Given the description of an element on the screen output the (x, y) to click on. 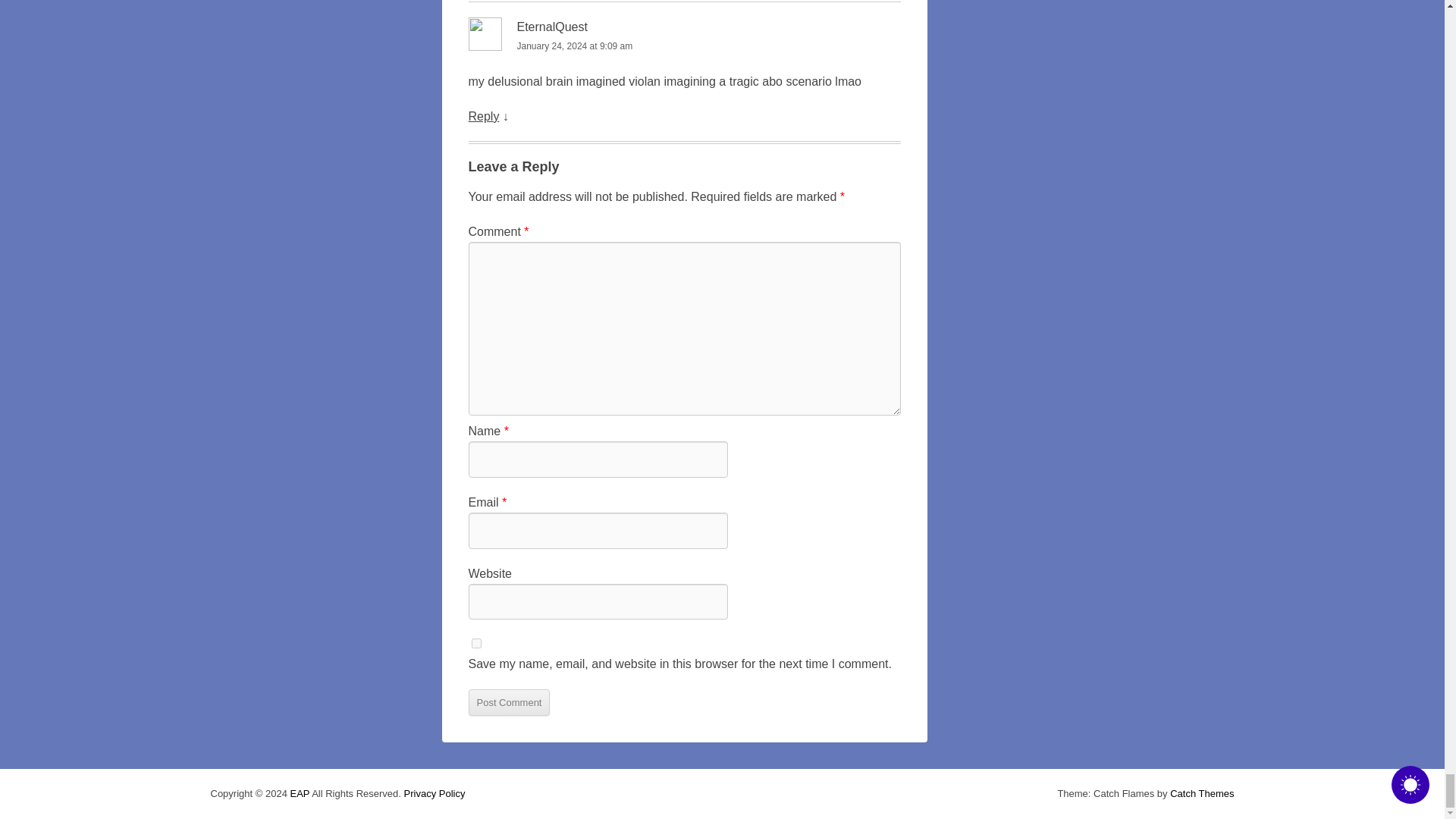
Catch Themes (1201, 793)
yes (476, 643)
Post Comment (509, 702)
EAP (298, 793)
